Given the description of an element on the screen output the (x, y) to click on. 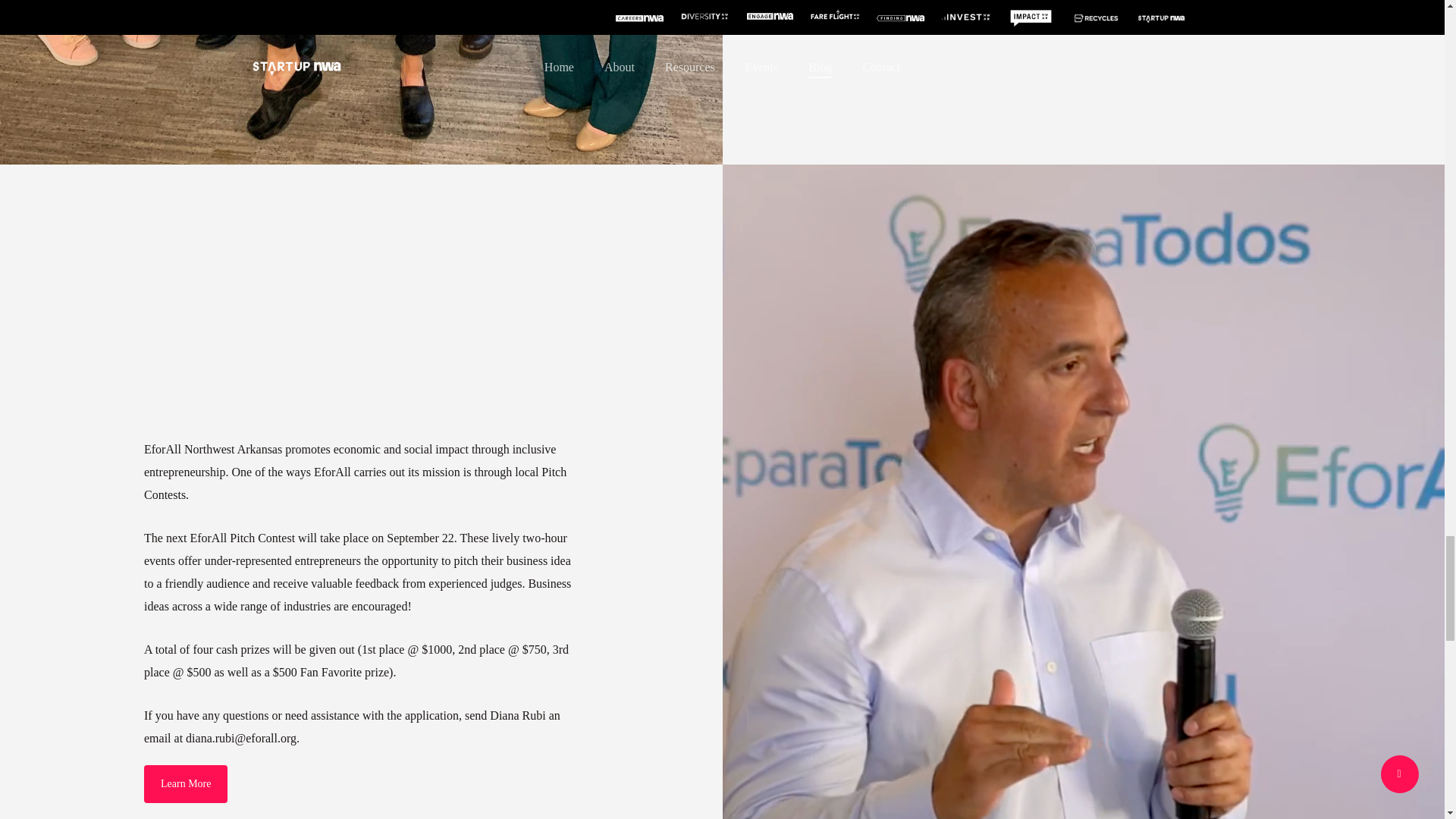
Learn More (185, 783)
Learn More (908, 5)
